Given the description of an element on the screen output the (x, y) to click on. 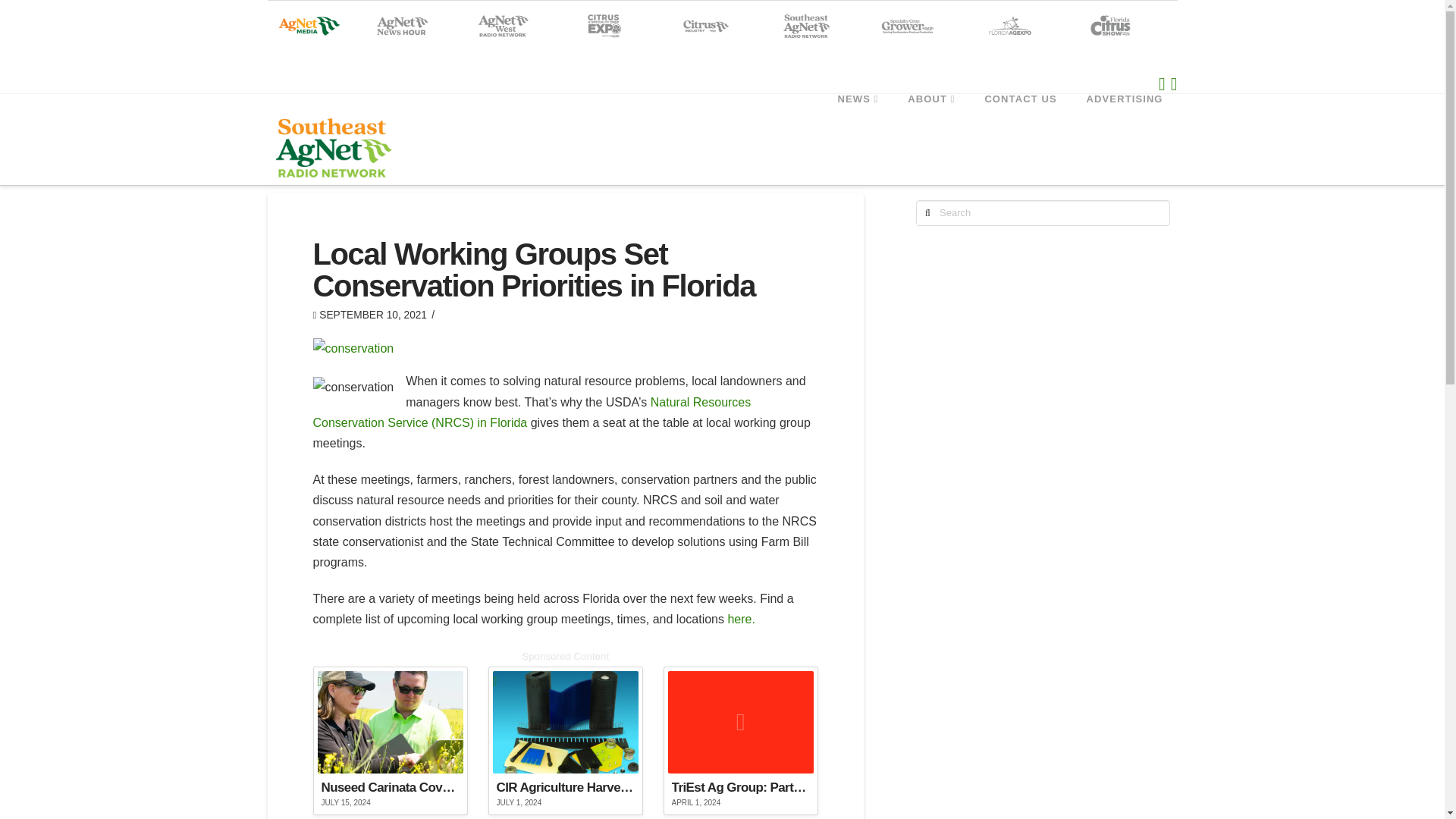
CONTACT US (1019, 128)
NEWS (857, 128)
ADVERTISING (1124, 128)
ABOUT (930, 128)
Permalink to: "TriEst Ag Group: Partners in Profitability" (740, 740)
Permalink to: "Nuseed Carinata Covers New Ground" (390, 740)
Permalink to: "CIR Agriculture Harvester Products" (565, 740)
